Given the description of an element on the screen output the (x, y) to click on. 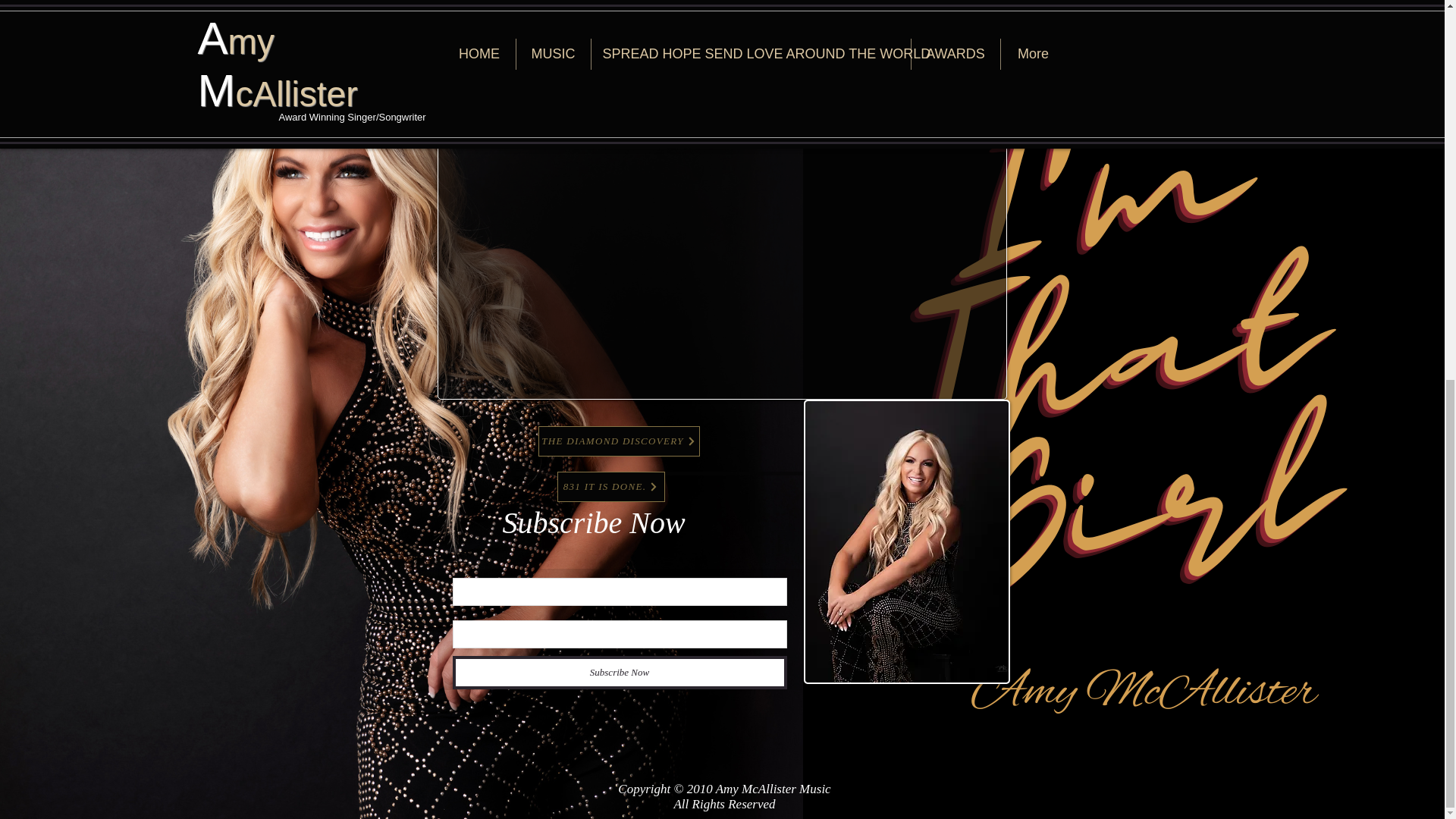
Subscribe Now (618, 672)
831 IT IS DONE. (609, 486)
THE DIAMOND DISCOVERY (619, 440)
